Given the description of an element on the screen output the (x, y) to click on. 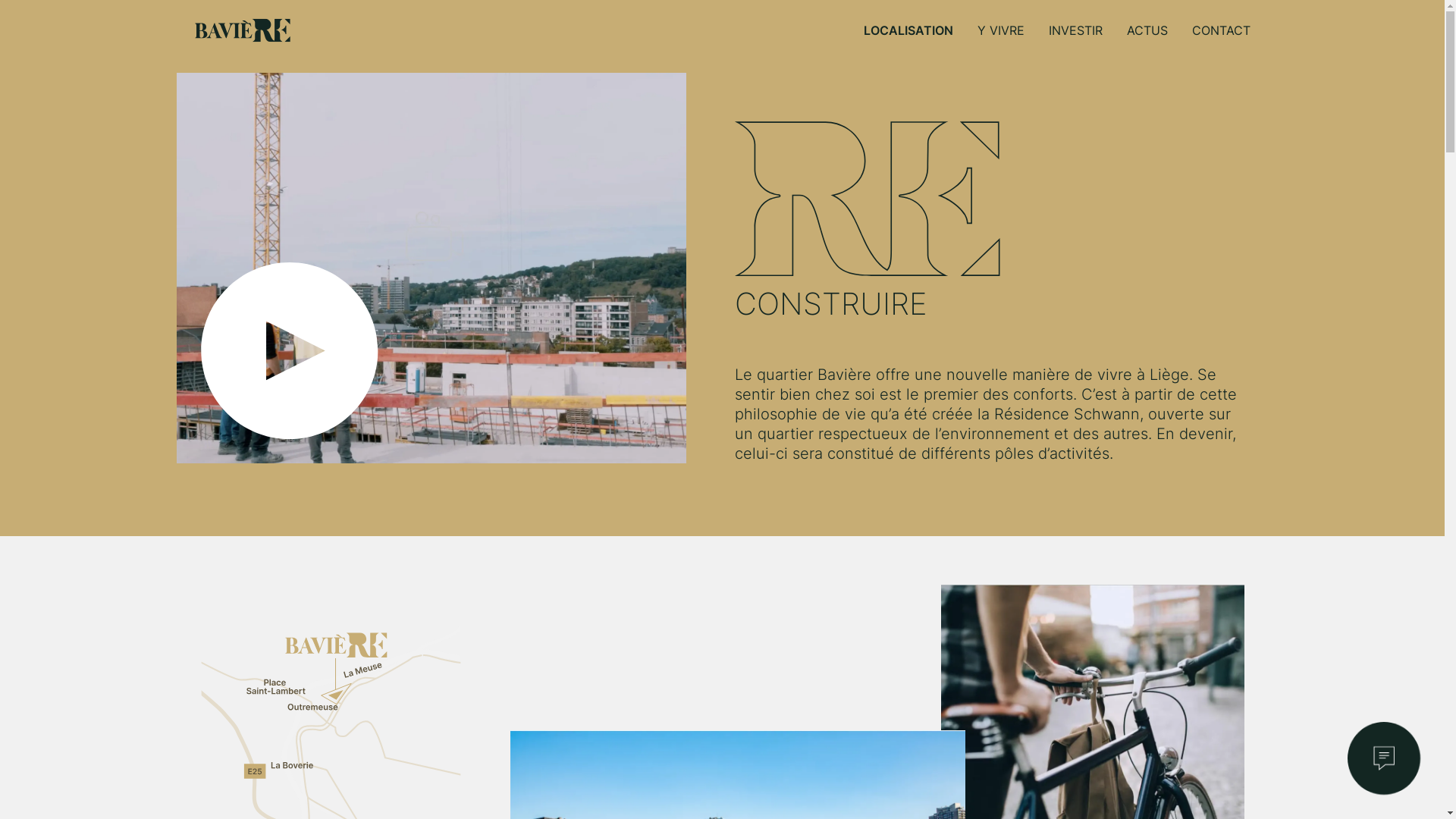
Y VIVRE Element type: text (999, 30)
ACTUS Element type: text (1146, 30)
INVESTIR Element type: text (1074, 30)
LOCALISATION Element type: text (907, 30)
CONTACT Element type: text (1220, 30)
